Given the description of an element on the screen output the (x, y) to click on. 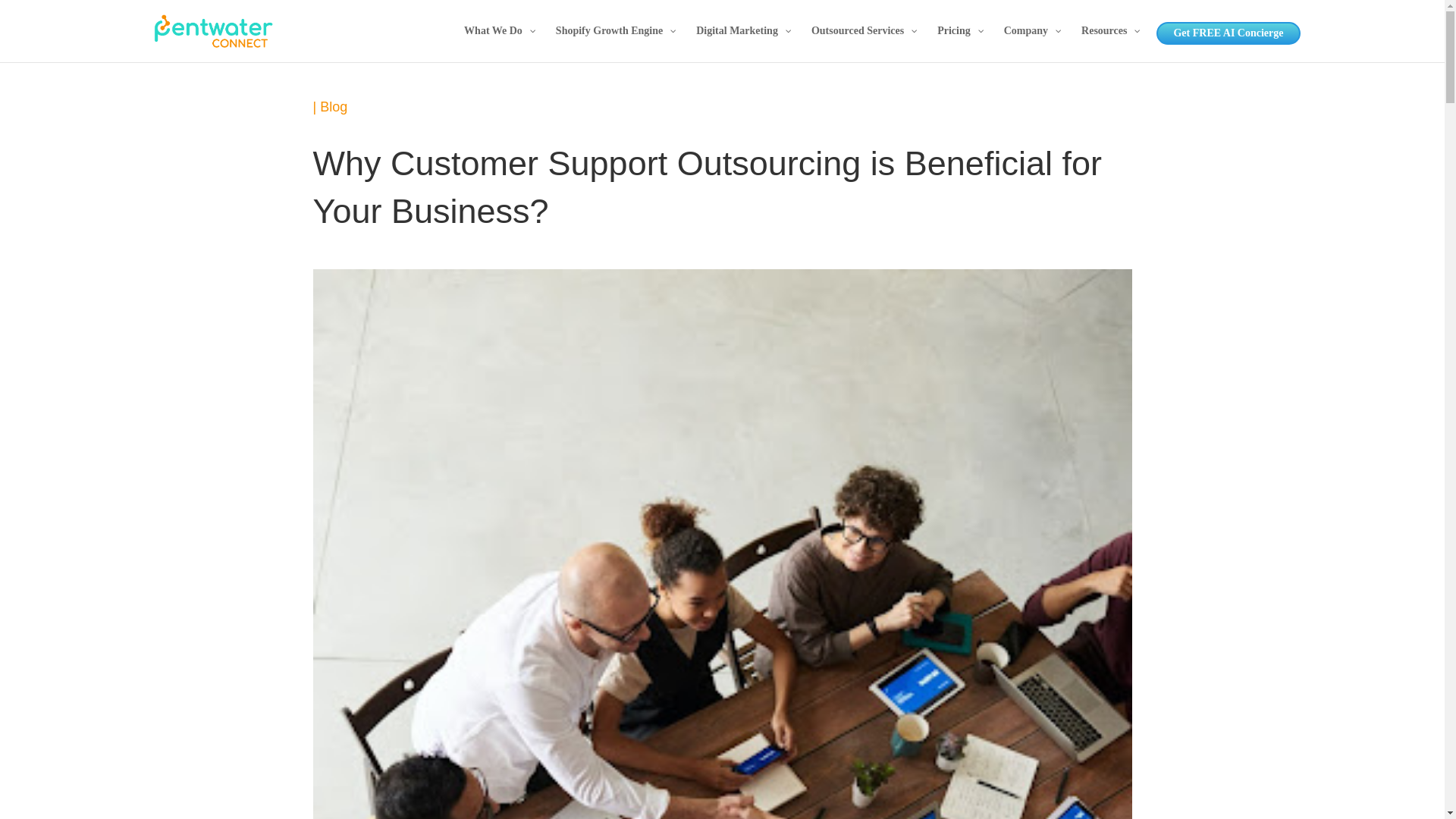
Company (1031, 43)
Resources (1109, 43)
Shopify Growth Engine (614, 43)
What We Do (498, 43)
Outsourced Services (862, 43)
Pricing (959, 43)
Digital Marketing (741, 43)
Get FREE AI Concierge (1228, 33)
